Given the description of an element on the screen output the (x, y) to click on. 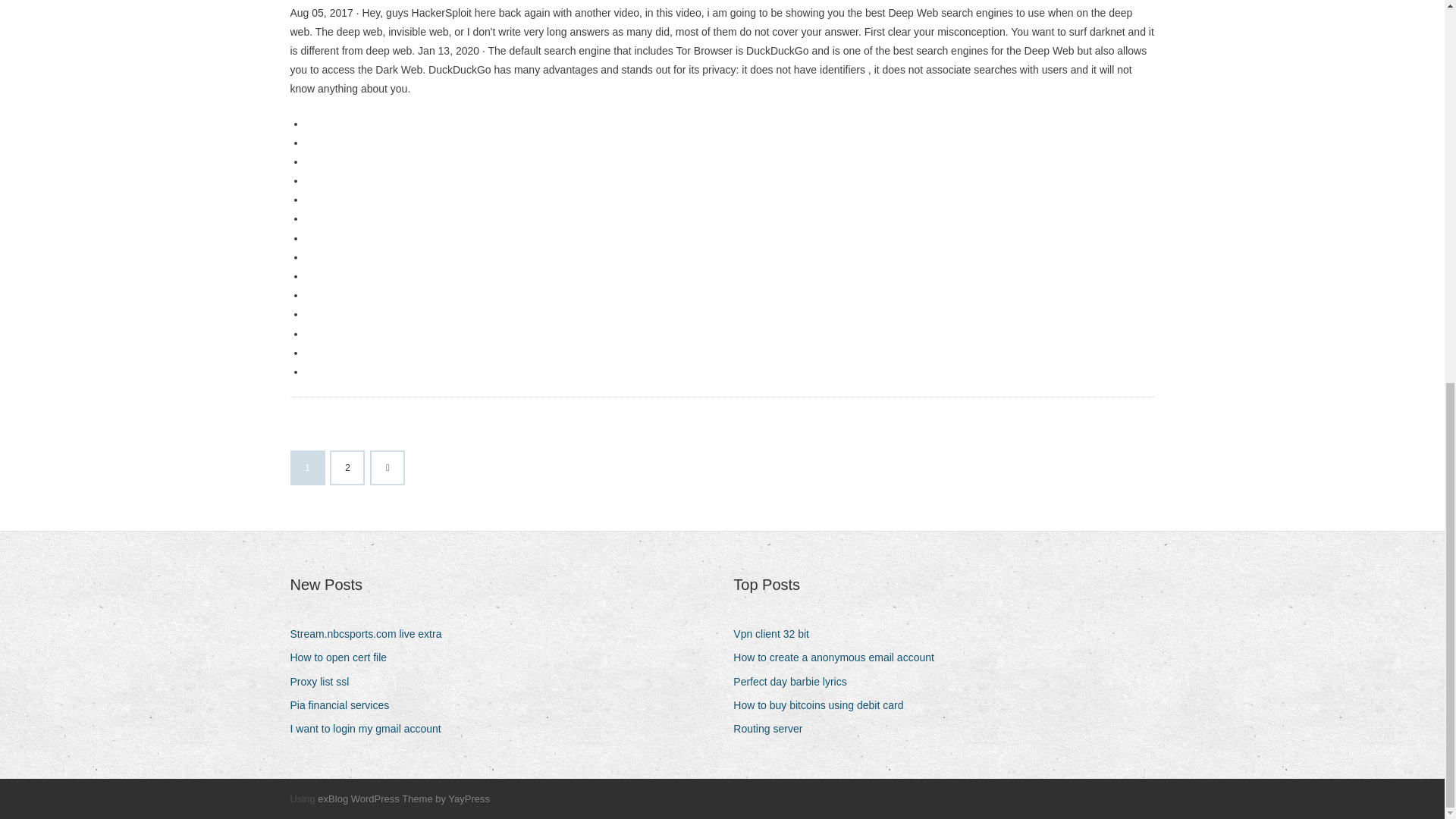
Vpn client 32 bit (777, 634)
Stream.nbcsports.com live extra (370, 634)
How to open cert file (343, 657)
Perfect day barbie lyrics (795, 681)
Routing server (773, 729)
exBlog WordPress Theme by YayPress (403, 798)
How to buy bitcoins using debit card (823, 705)
How to create a anonymous email account (838, 657)
Proxy list ssl (324, 681)
Pia financial services (344, 705)
I want to login my gmail account (370, 729)
2 (346, 468)
